Given the description of an element on the screen output the (x, y) to click on. 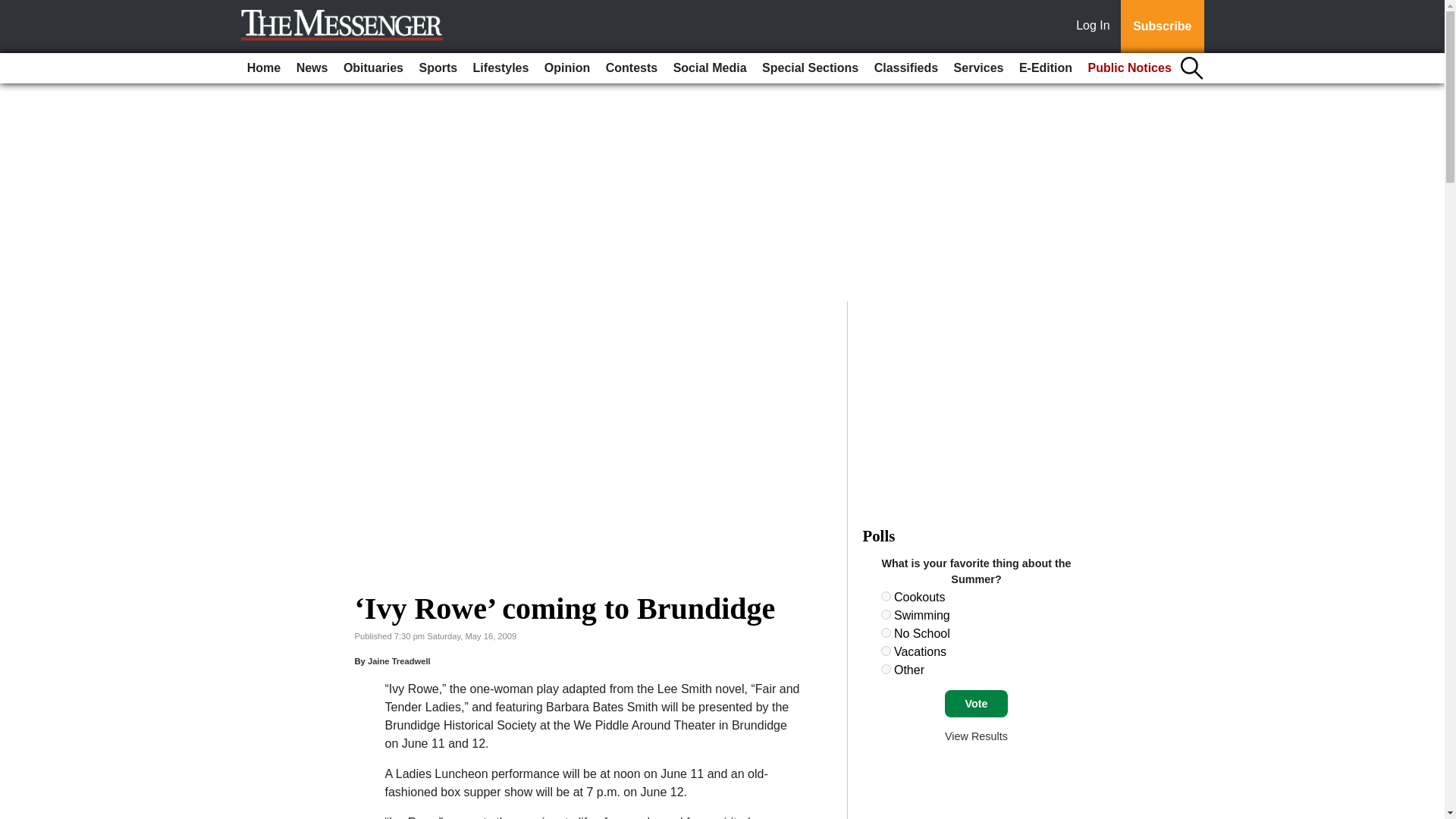
Social Media (709, 68)
Contests (631, 68)
Home (263, 68)
Log In (1095, 26)
E-Edition (1045, 68)
   Vote    (975, 703)
7277 (885, 651)
Lifestyles (501, 68)
Special Sections (809, 68)
Subscribe (1162, 26)
Sports (437, 68)
7276 (885, 633)
Opinion (566, 68)
Obituaries (373, 68)
Classifieds (905, 68)
